Given the description of an element on the screen output the (x, y) to click on. 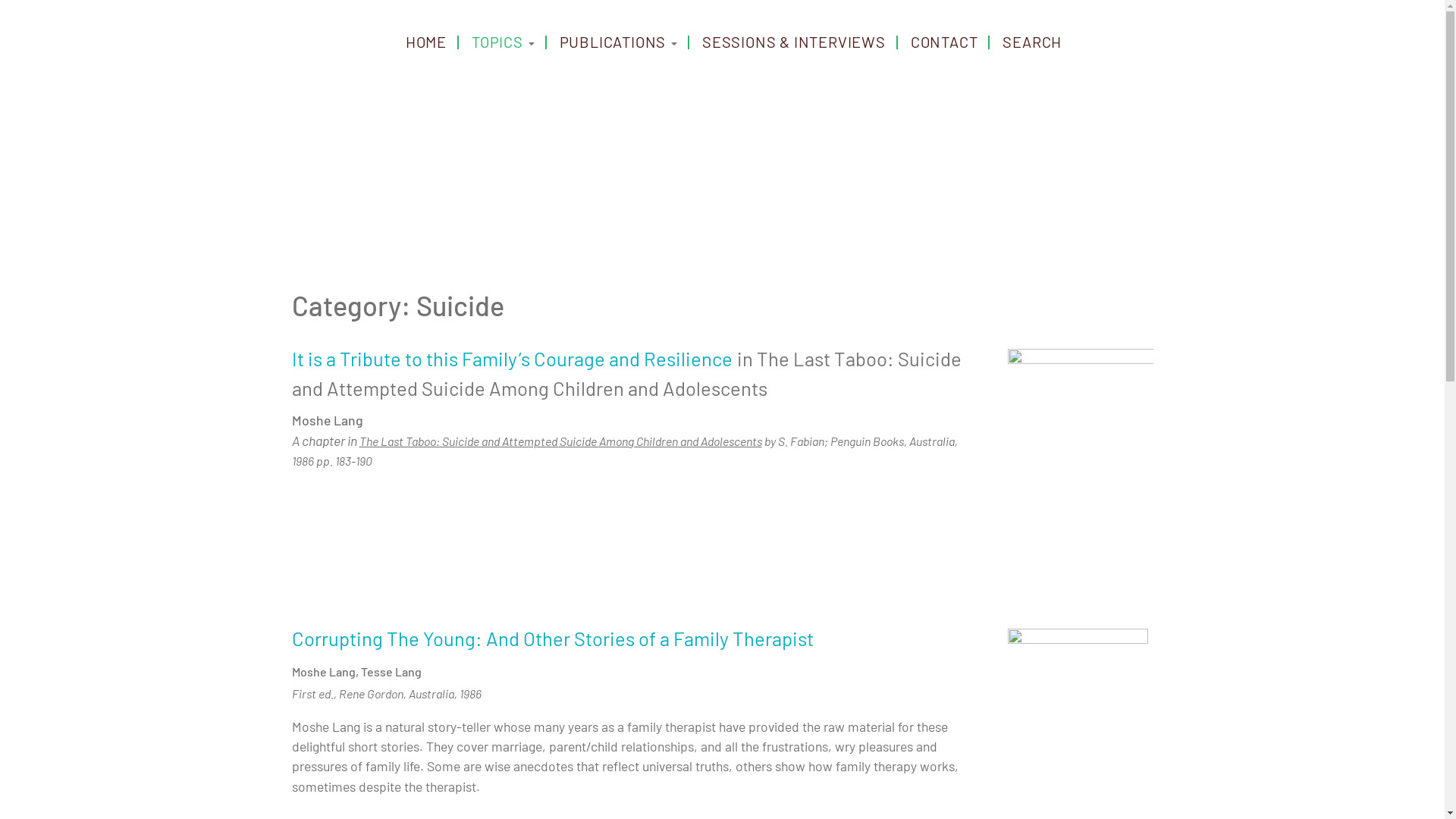
HOME Element type: text (425, 41)
SEARCH Element type: text (1031, 41)
SESSIONS & INTERVIEWS Element type: text (793, 41)
TOPICS Element type: text (502, 41)
CONTACT Element type: text (944, 41)
PUBLICATIONS Element type: text (618, 41)
